Given the description of an element on the screen output the (x, y) to click on. 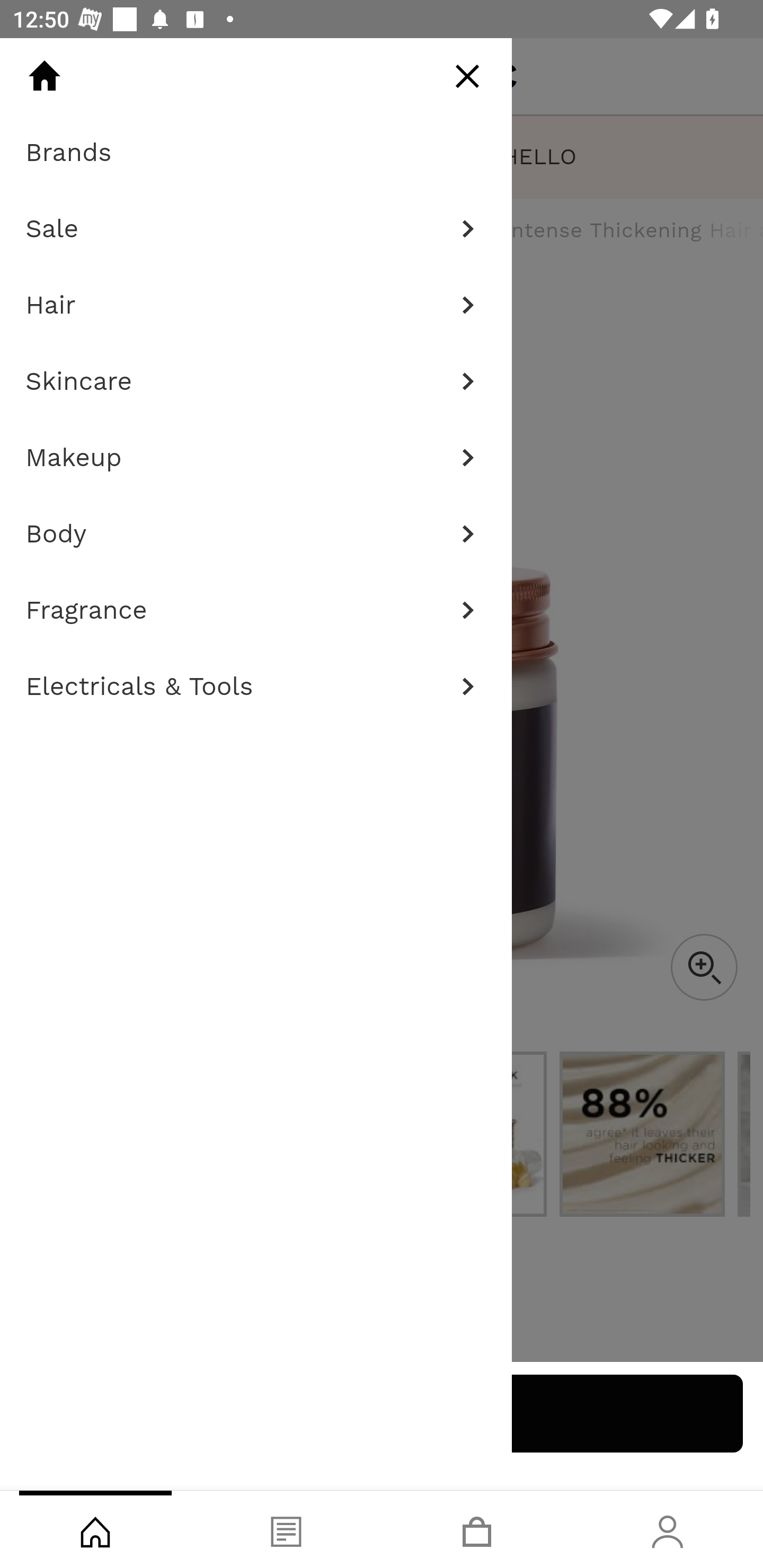
Home (44, 75)
Close Menu (467, 75)
Brands (255, 152)
Brands (255, 152)
Sale (255, 228)
Hair (255, 304)
Skincare (255, 381)
Makeup (255, 457)
Body (255, 533)
Fragrance (255, 610)
Electricals & Tools (255, 686)
Shop, tab, 1 of 4 (95, 1529)
Blog, tab, 2 of 4 (285, 1529)
Basket, tab, 3 of 4 (476, 1529)
Account, tab, 4 of 4 (667, 1529)
